Given the description of an element on the screen output the (x, y) to click on. 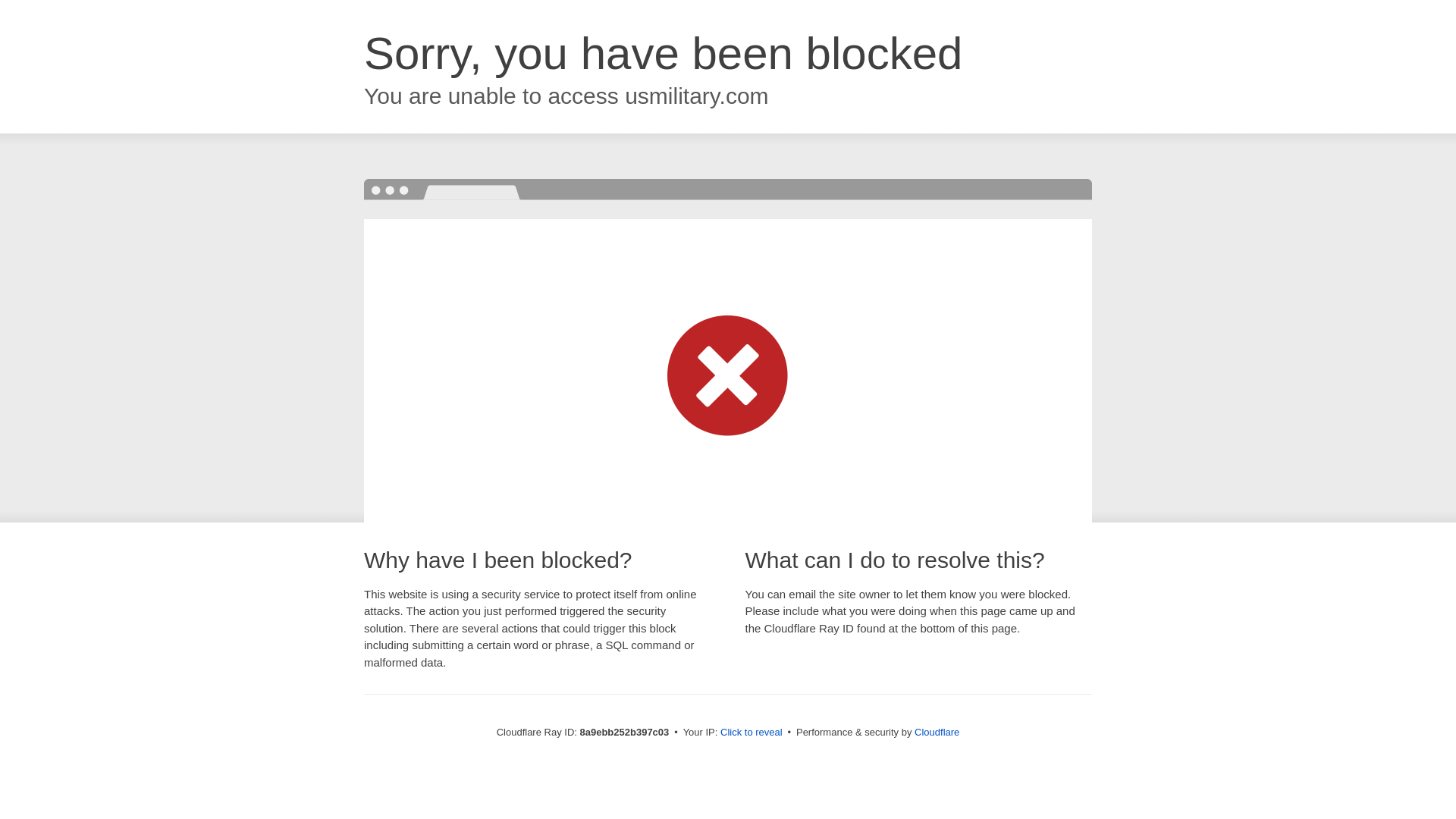
Click to reveal (751, 732)
Cloudflare (936, 731)
